Given the description of an element on the screen output the (x, y) to click on. 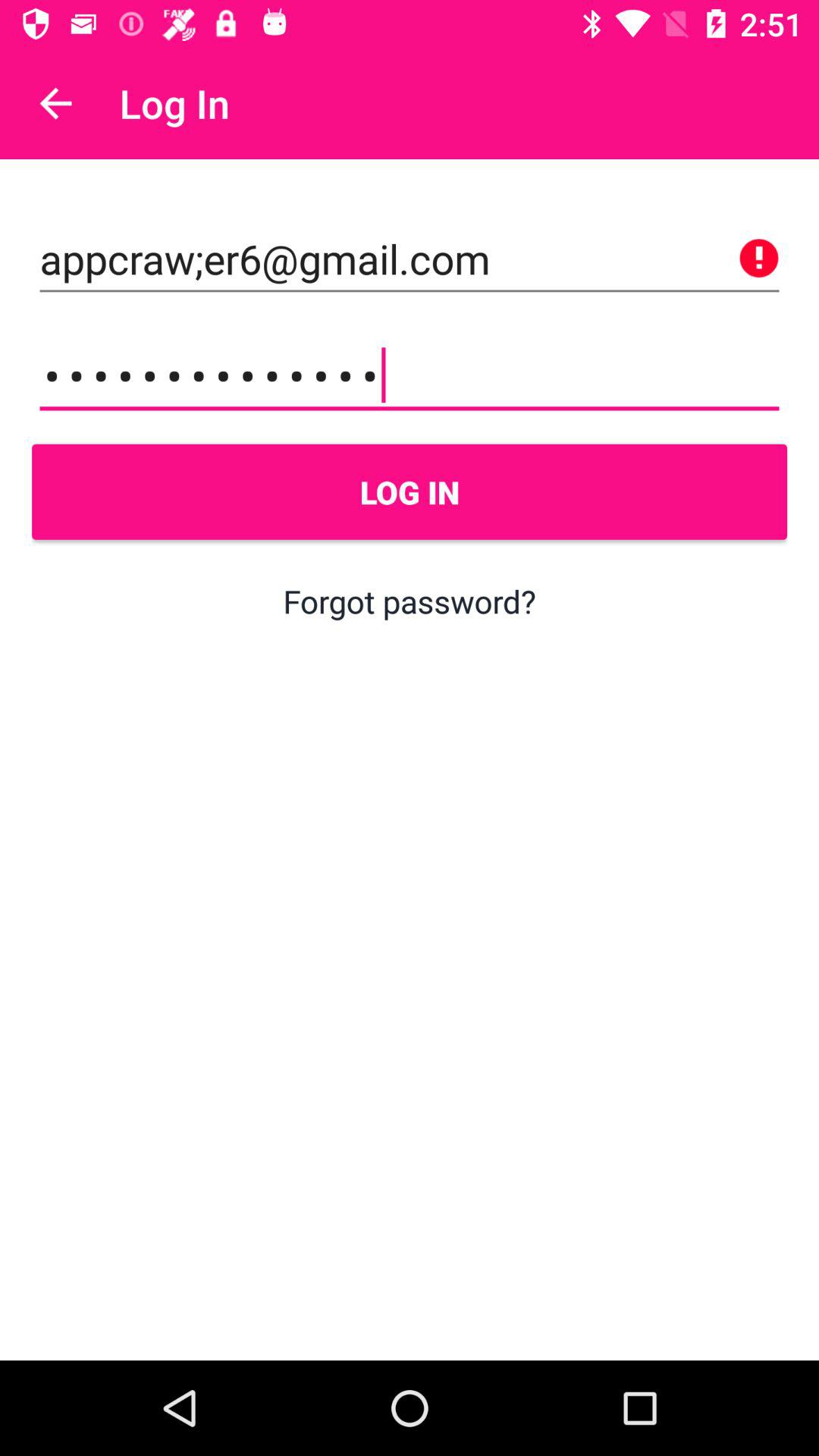
tap the item below log in (409, 600)
